Given the description of an element on the screen output the (x, y) to click on. 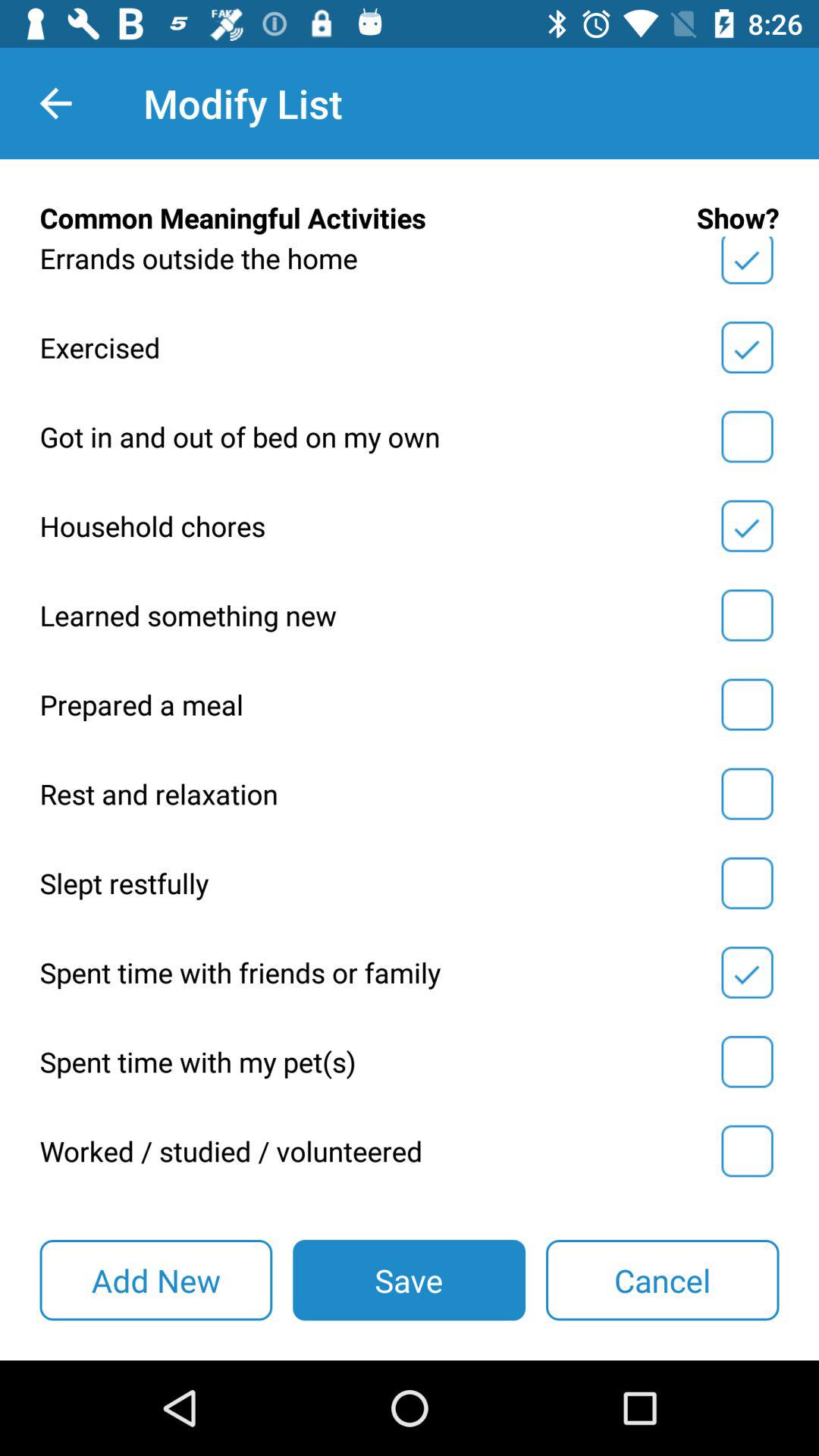
add check mark to box (747, 436)
